Given the description of an element on the screen output the (x, y) to click on. 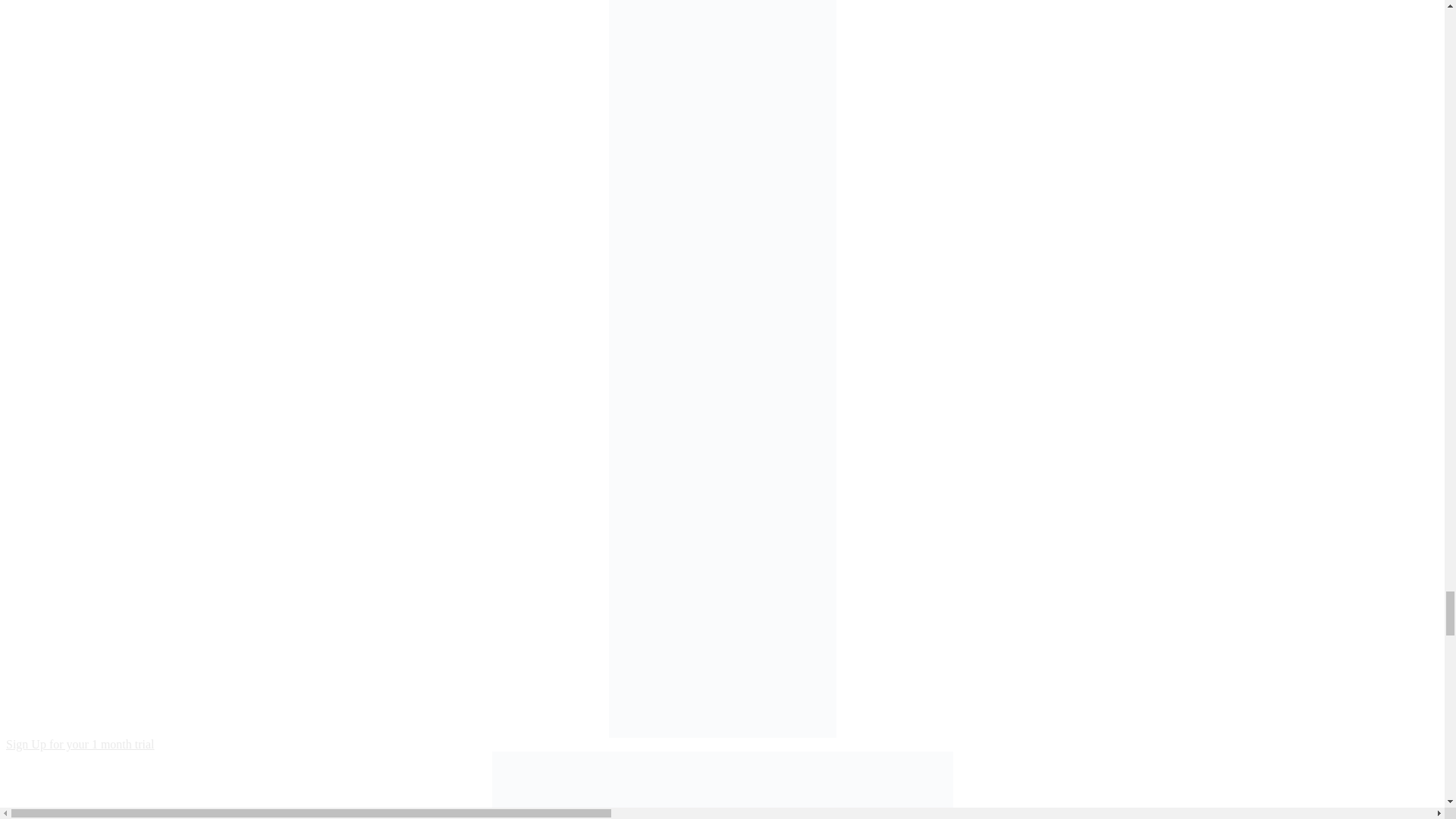
Sign Up for your 1 month trial (79, 744)
